Given the description of an element on the screen output the (x, y) to click on. 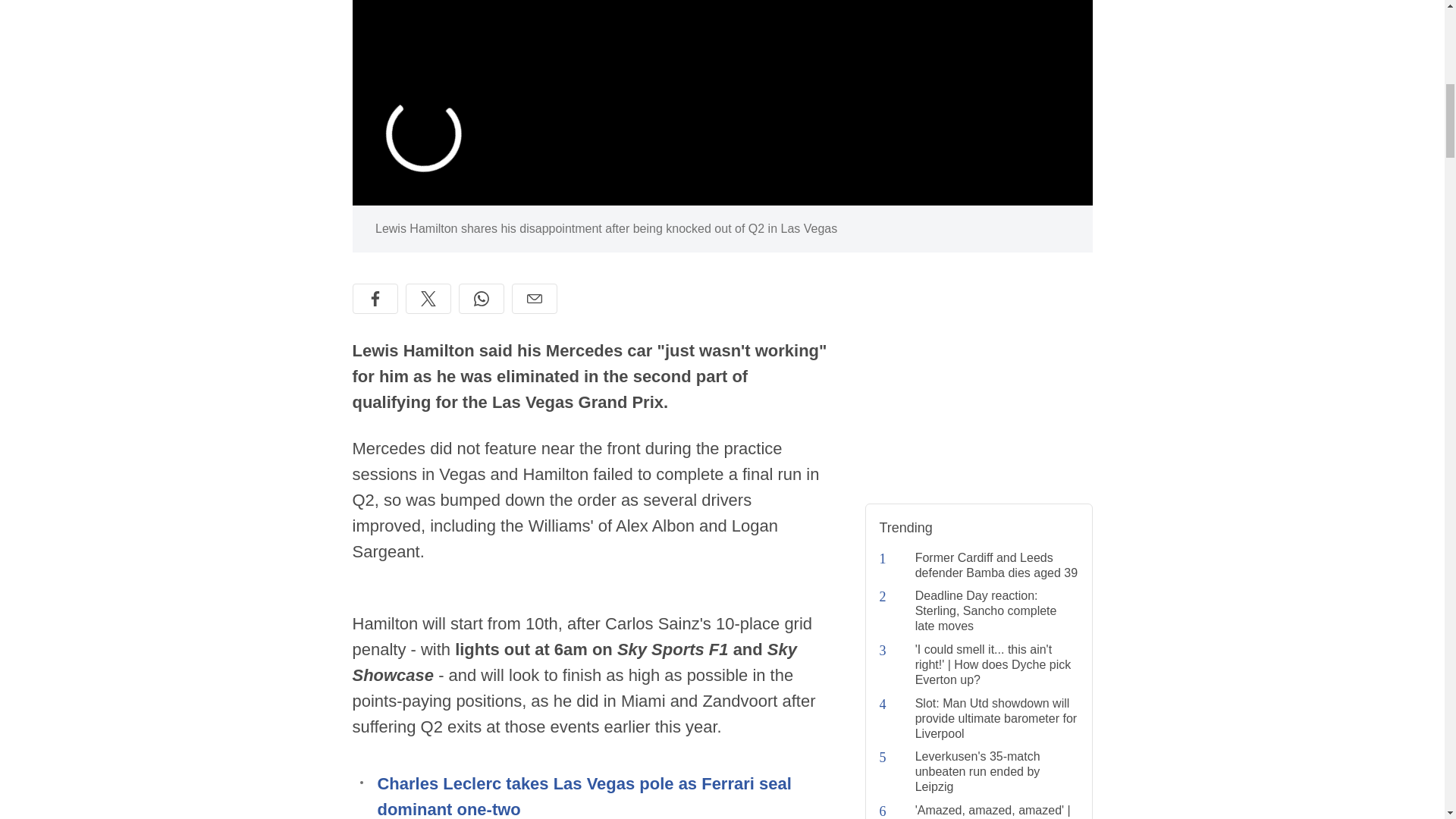
Share on WhatsApp (480, 298)
Share on X (426, 298)
Share on Facebook (374, 298)
Share by email (533, 298)
